Given the description of an element on the screen output the (x, y) to click on. 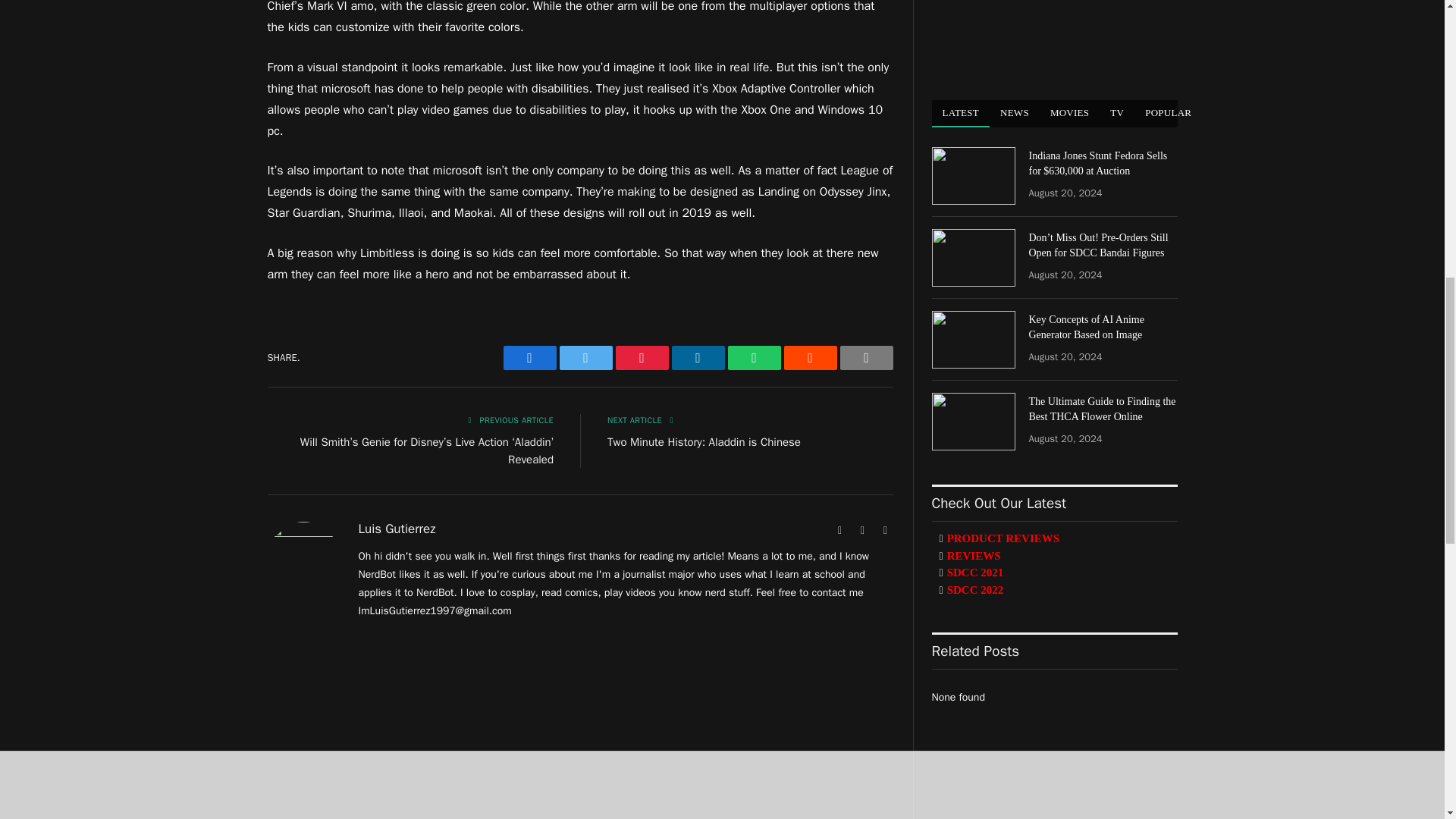
Share on WhatsApp (754, 357)
Facebook (529, 357)
Share on LinkedIn (698, 357)
Share on Pinterest (641, 357)
WhatsApp (754, 357)
Reddit (810, 357)
LinkedIn (698, 357)
Twitter (585, 357)
Pinterest (641, 357)
Share on Facebook (529, 357)
